Given the description of an element on the screen output the (x, y) to click on. 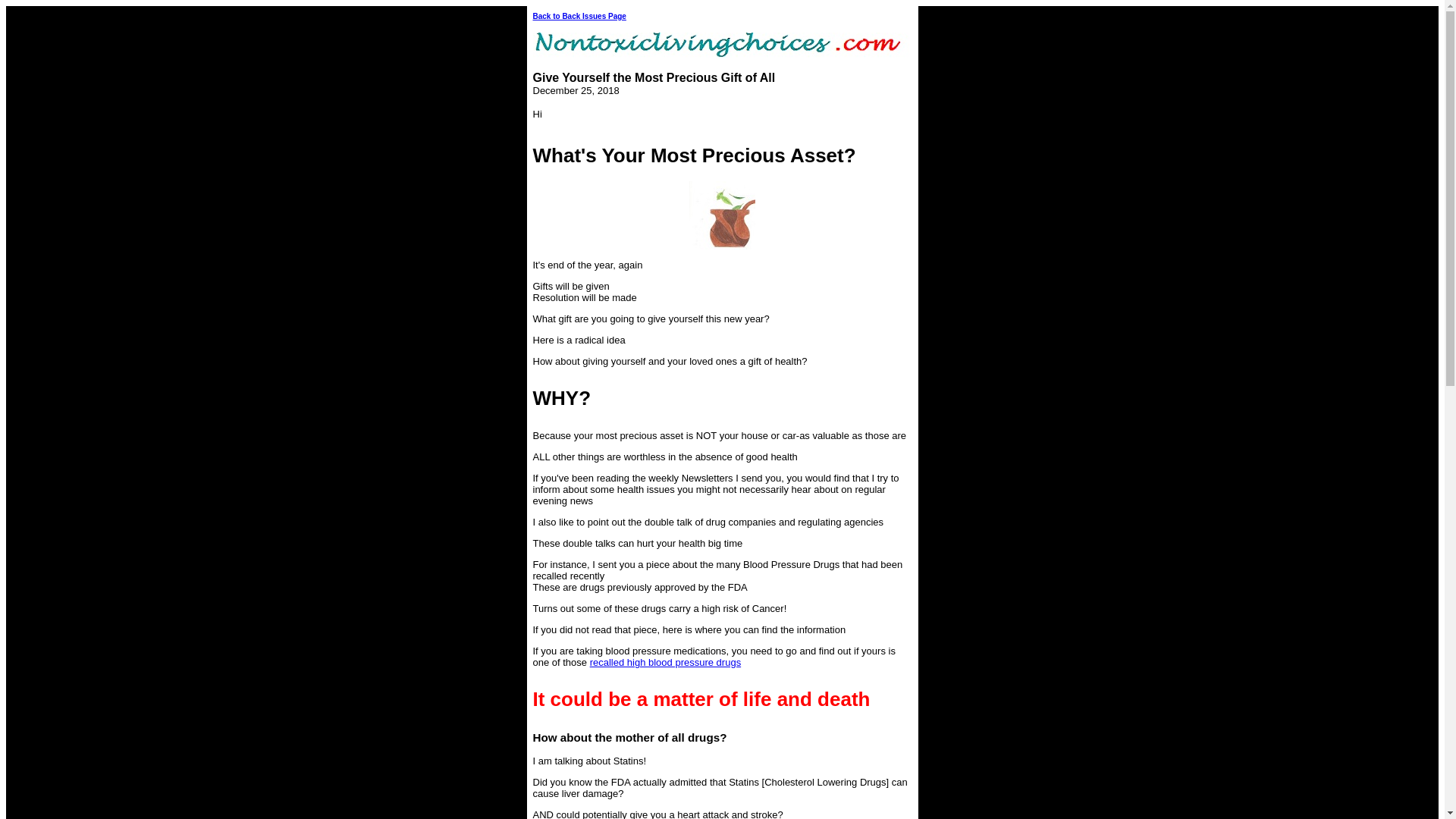
Back to Back Issues Page (579, 16)
recalled high blood pressure drugs (665, 662)
